Given the description of an element on the screen output the (x, y) to click on. 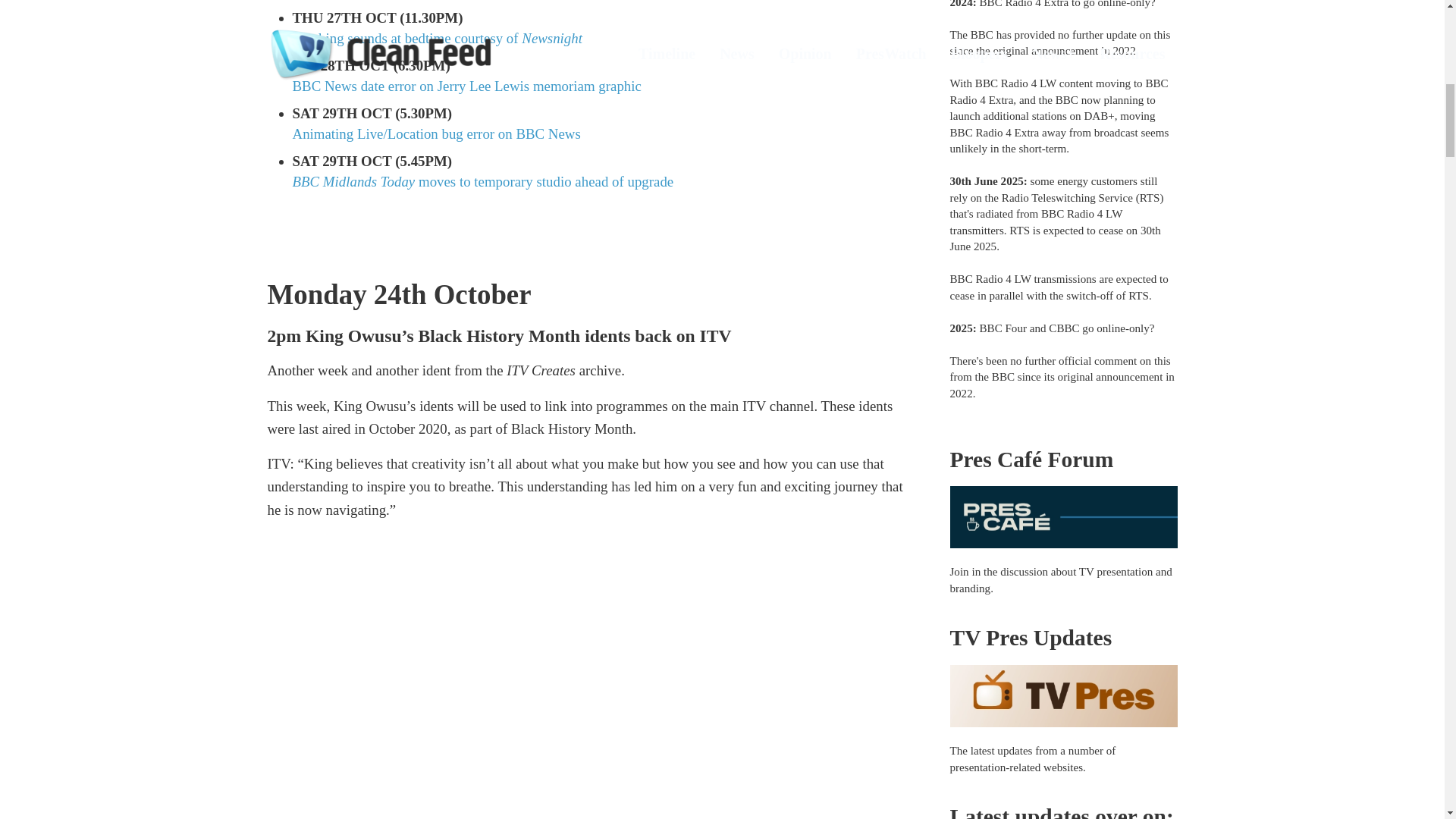
BBC News date error on Jerry Lee Lewis memoriam graphic (467, 85)
Soothing sounds at bedtime courtesy of Newsnight (437, 37)
